Given the description of an element on the screen output the (x, y) to click on. 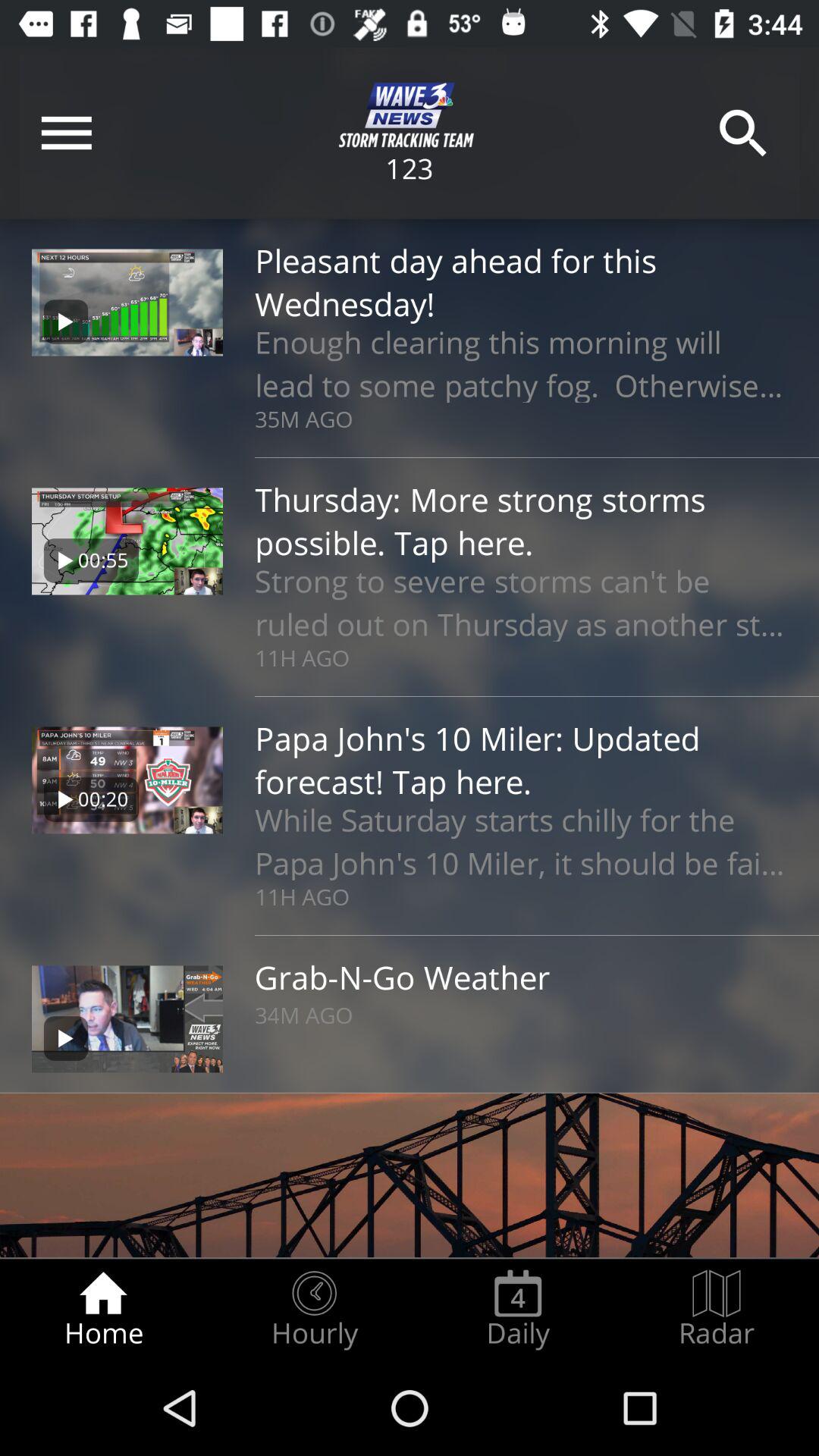
tap daily icon (518, 1309)
